Given the description of an element on the screen output the (x, y) to click on. 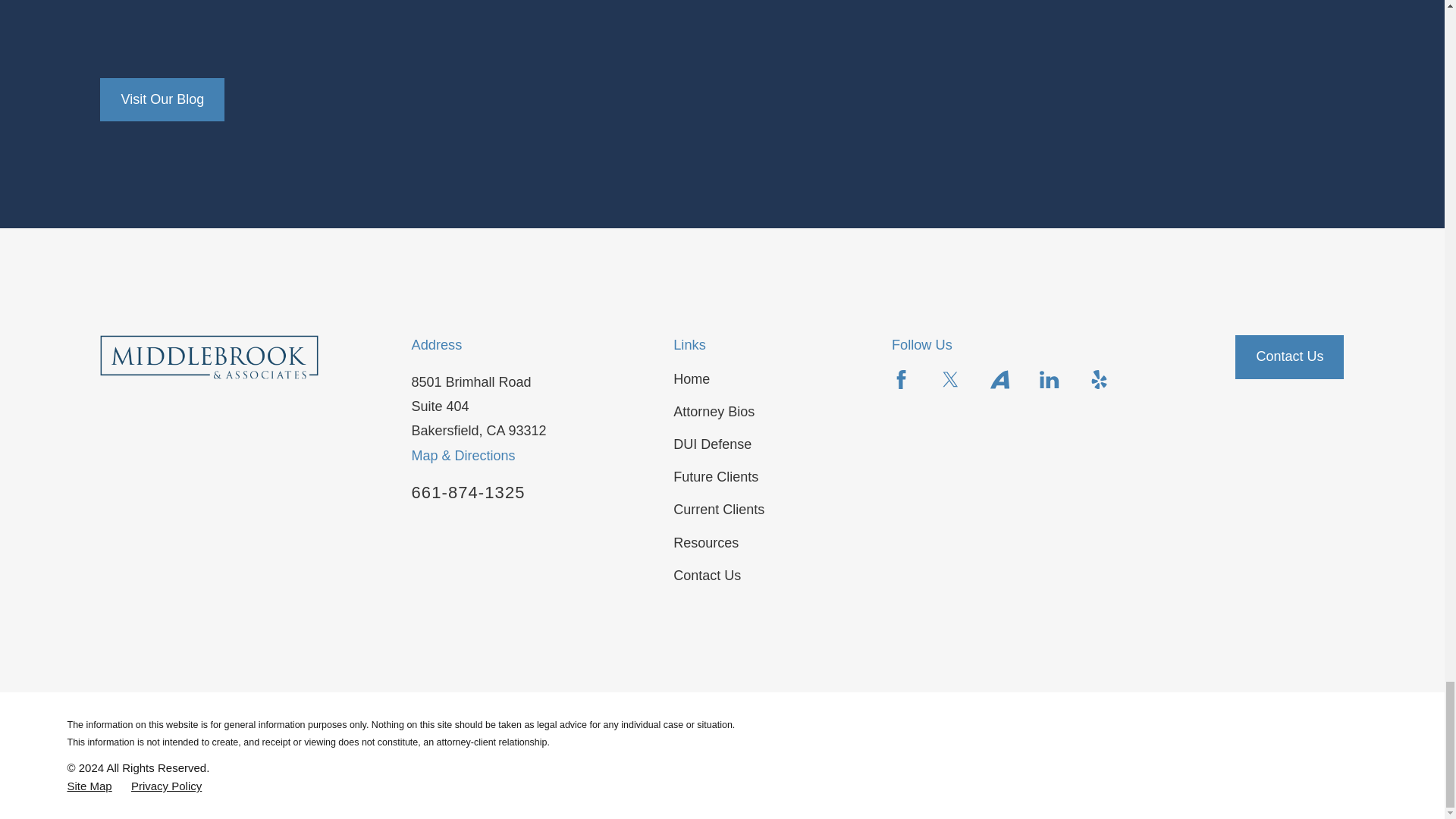
Yelp (1098, 379)
Avvo (999, 379)
Twitter (949, 379)
Facebook (901, 379)
LinkedIn (1048, 379)
Home (209, 356)
